Given the description of an element on the screen output the (x, y) to click on. 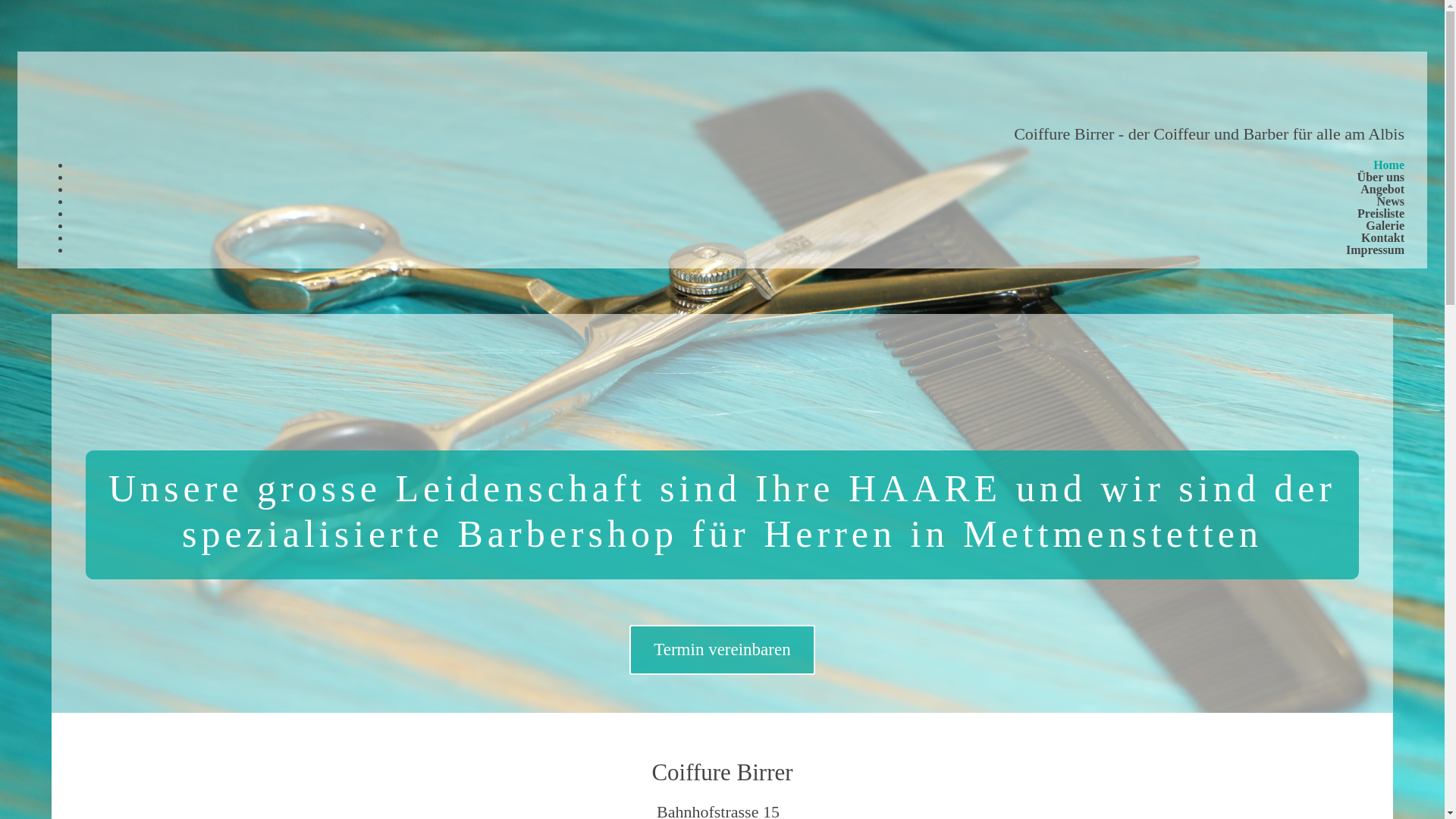
Termin vereinbaren Element type: text (721, 649)
Angebot Element type: text (1382, 185)
Preisliste Element type: text (1380, 209)
Kontakt Element type: text (1382, 233)
Galerie Element type: text (1384, 221)
Impressum Element type: text (1375, 246)
News Element type: text (1390, 197)
Home Element type: text (1388, 161)
